Given the description of an element on the screen output the (x, y) to click on. 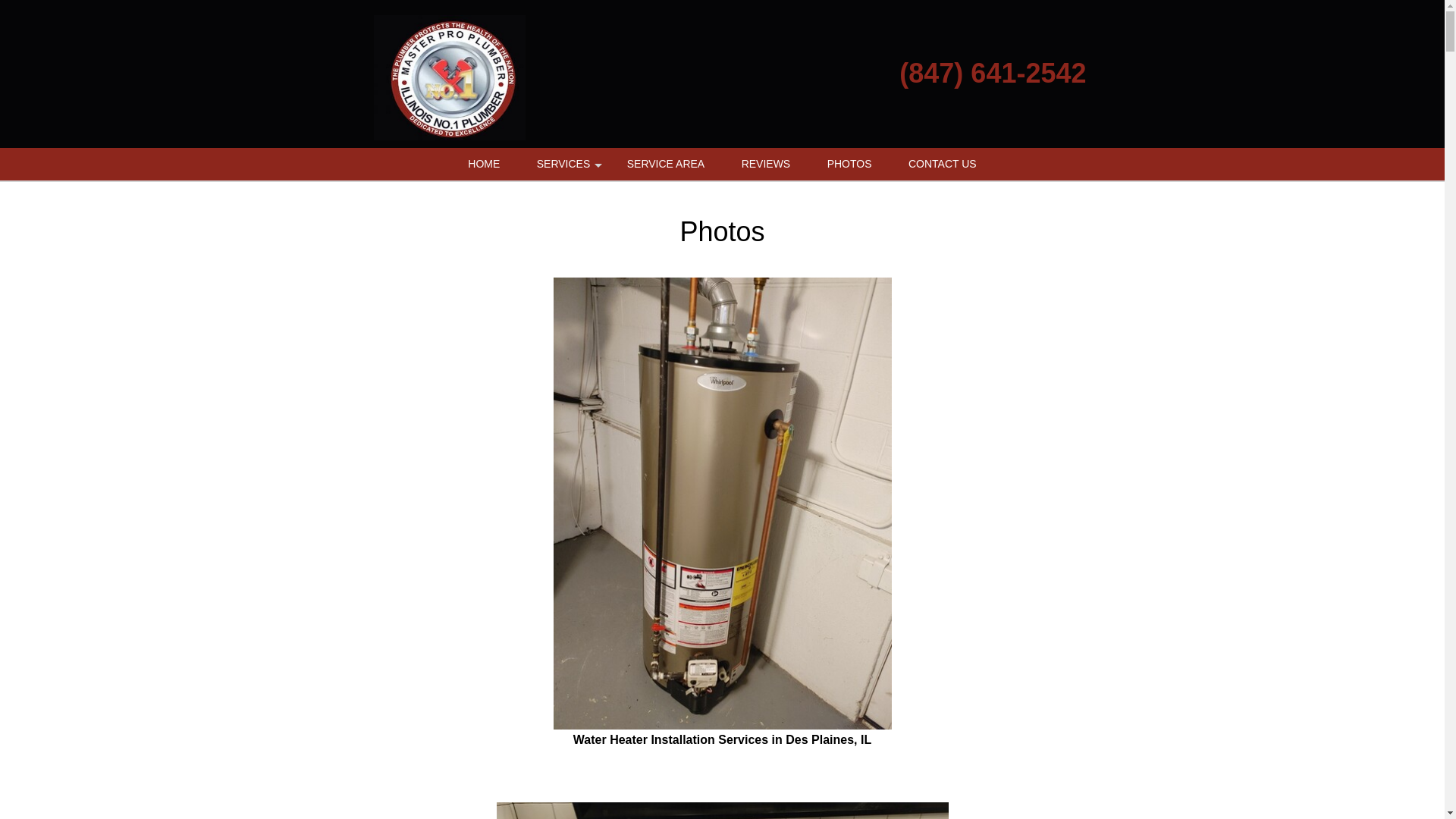
REVIEWS (766, 164)
CONTACT US (941, 164)
HOME (483, 164)
SERVICE AREA (665, 164)
PHOTOS (849, 164)
